Given the description of an element on the screen output the (x, y) to click on. 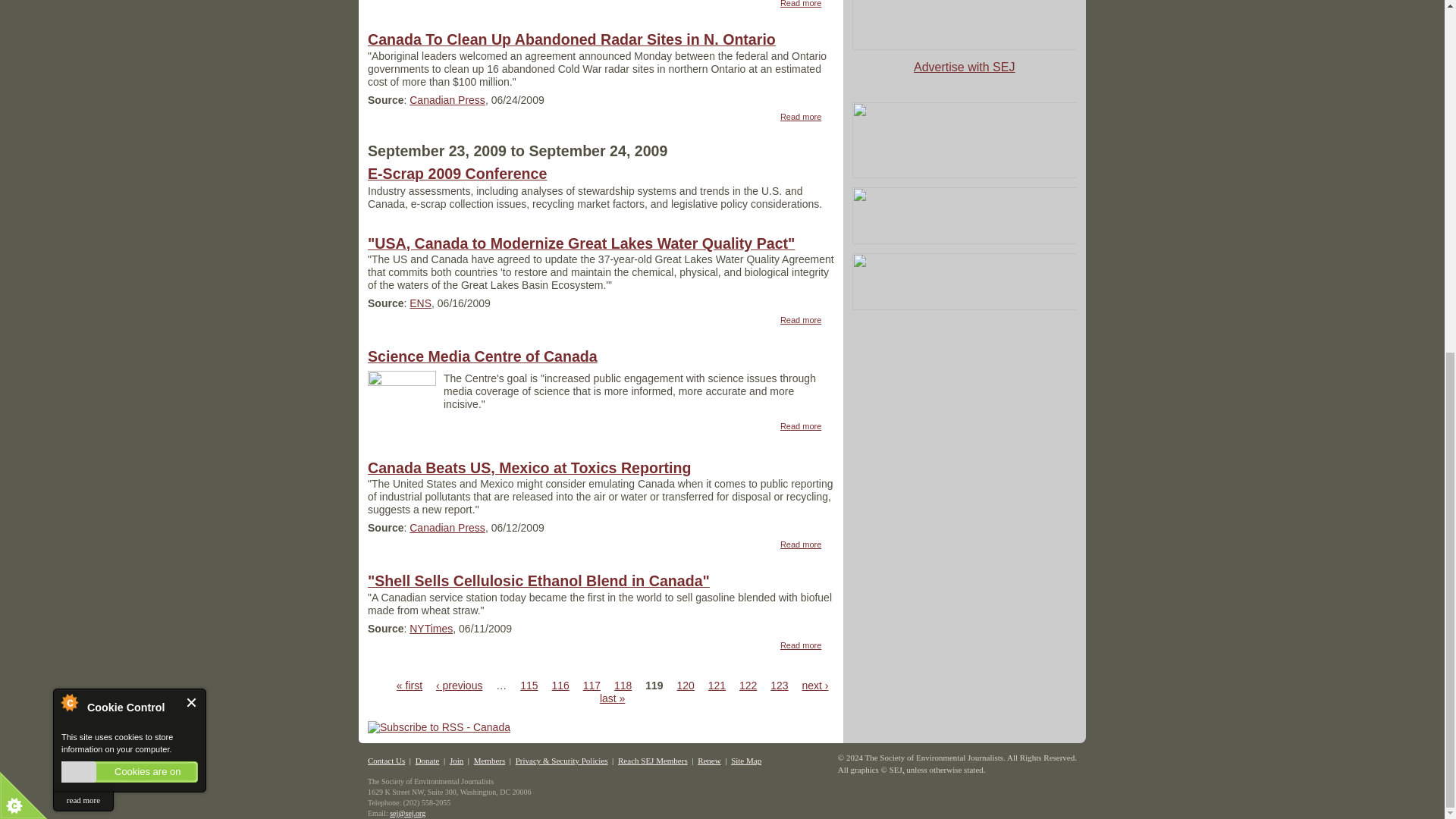
read more (82, 186)
Close (191, 87)
Cookies are on (129, 157)
